Given the description of an element on the screen output the (x, y) to click on. 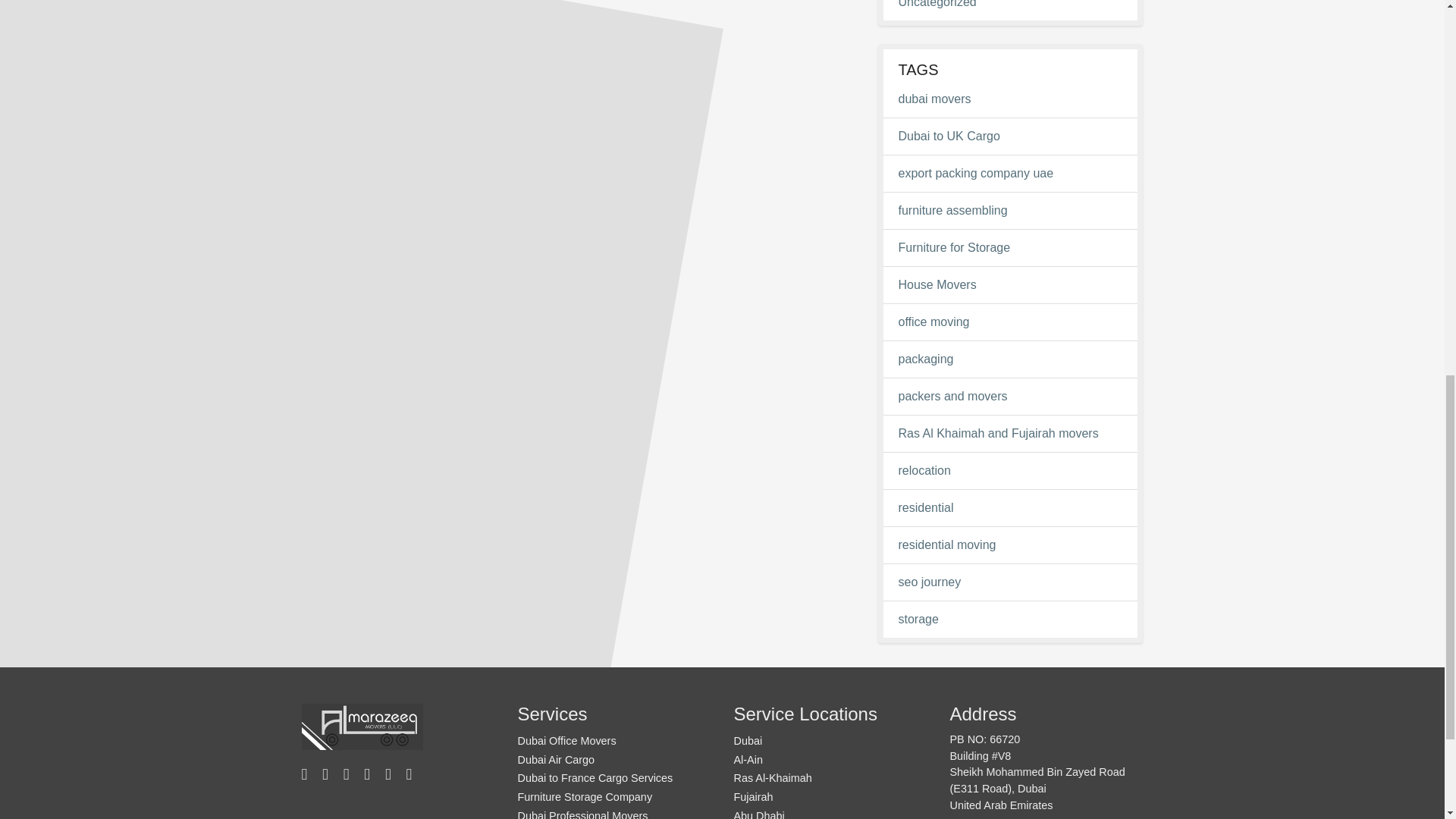
export packing company uae (1010, 173)
Furniture for Storage (1010, 248)
House Movers (1010, 285)
Uncategorized (1010, 5)
Ras Al Khaimah and Fujairah movers (1010, 434)
Dubai to UK Cargo (1010, 136)
dubai movers (1010, 99)
office moving (1010, 321)
packaging (1010, 359)
furniture assembling (1010, 210)
packers and movers (1010, 396)
relocation (1010, 470)
residential (1010, 507)
